Given the description of an element on the screen output the (x, y) to click on. 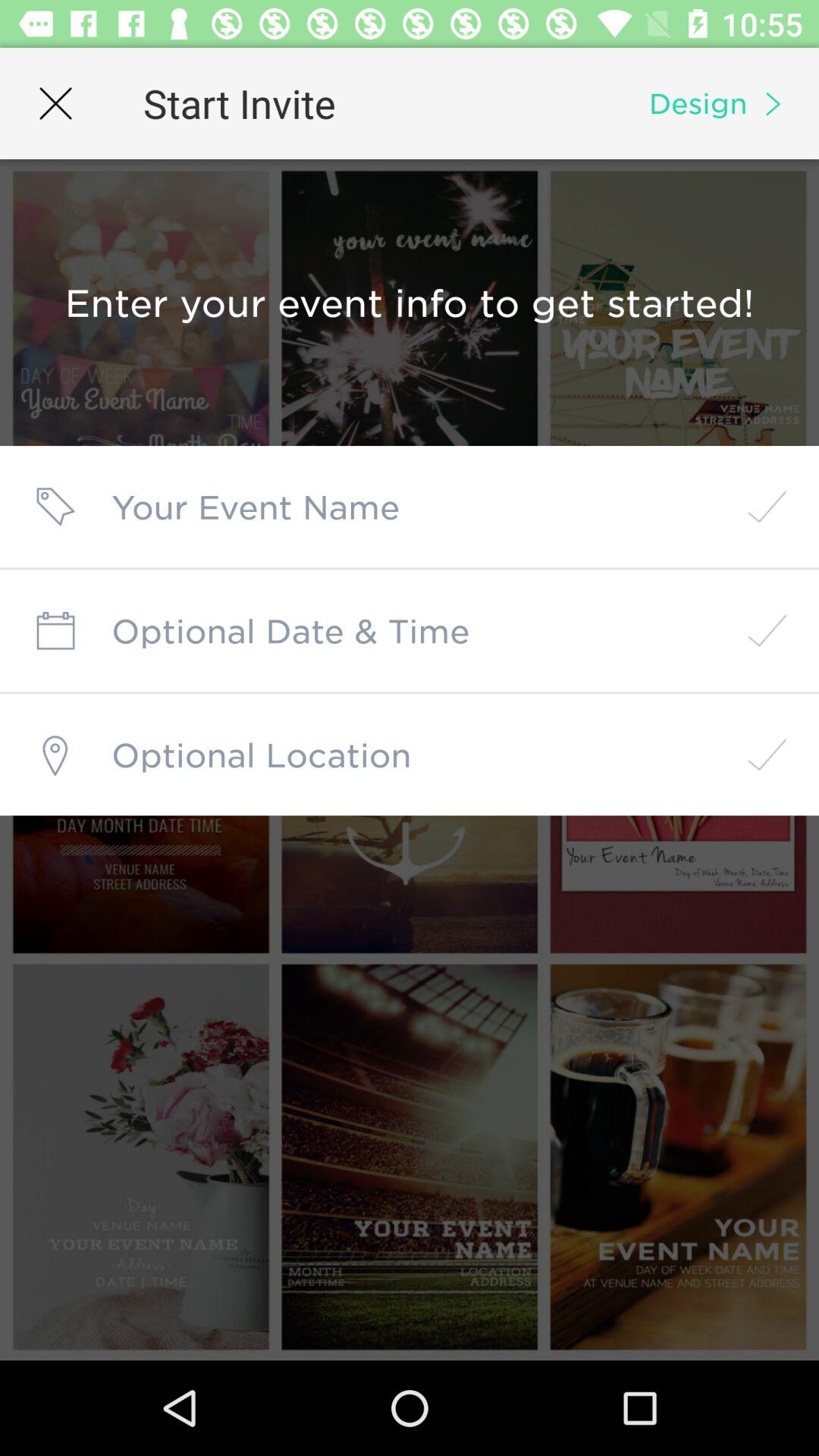
location field (409, 754)
